Given the description of an element on the screen output the (x, y) to click on. 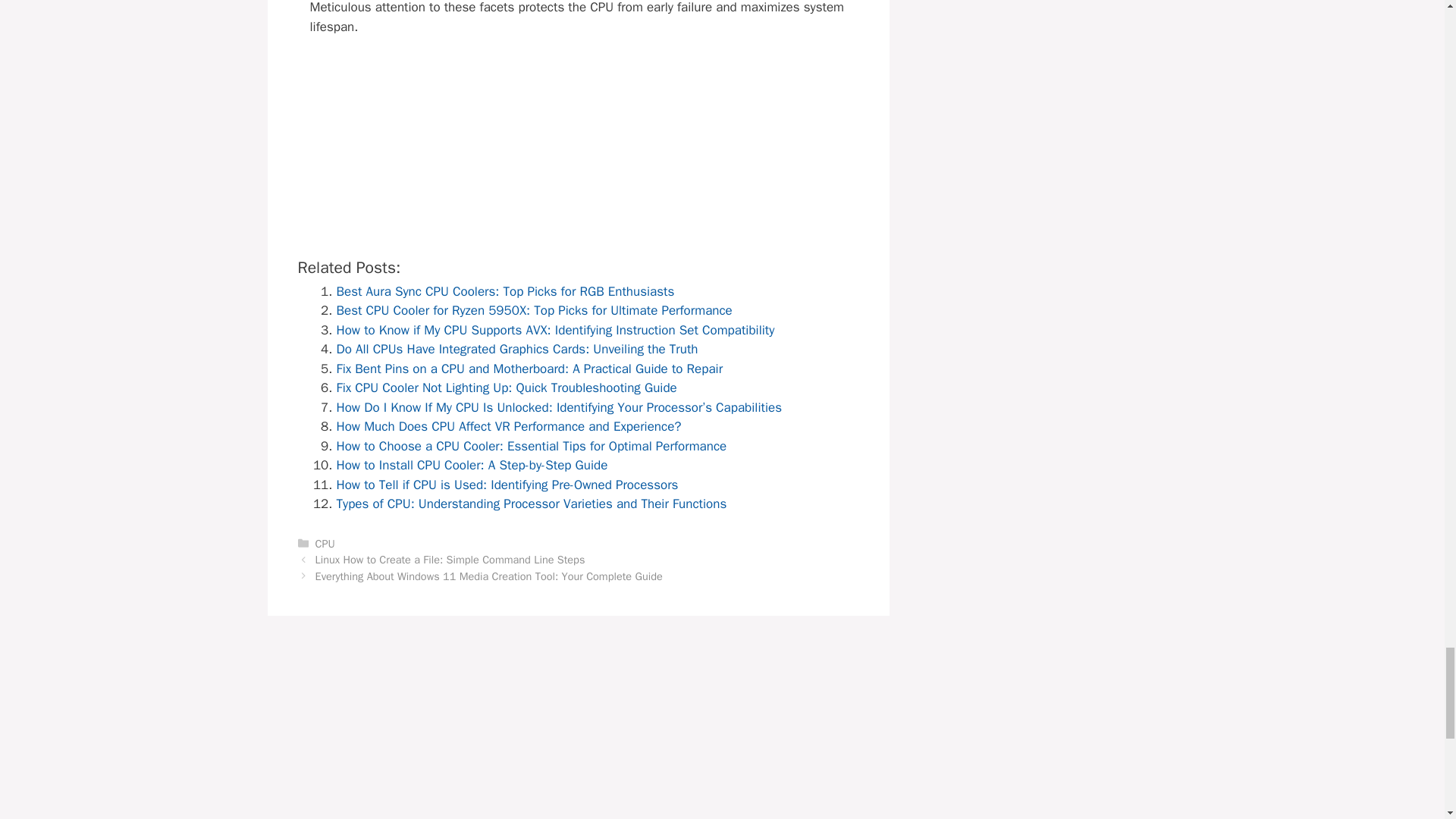
How to Install CPU Cooler: A Step-by-Step Guide (472, 465)
Best Aura Sync CPU Coolers: Top Picks for RGB Enthusiasts (505, 291)
How Much Does CPU Affect VR Performance and Experience? (508, 426)
How to Tell if CPU is Used: Identifying Pre-Owned Processors (507, 484)
